Given the description of an element on the screen output the (x, y) to click on. 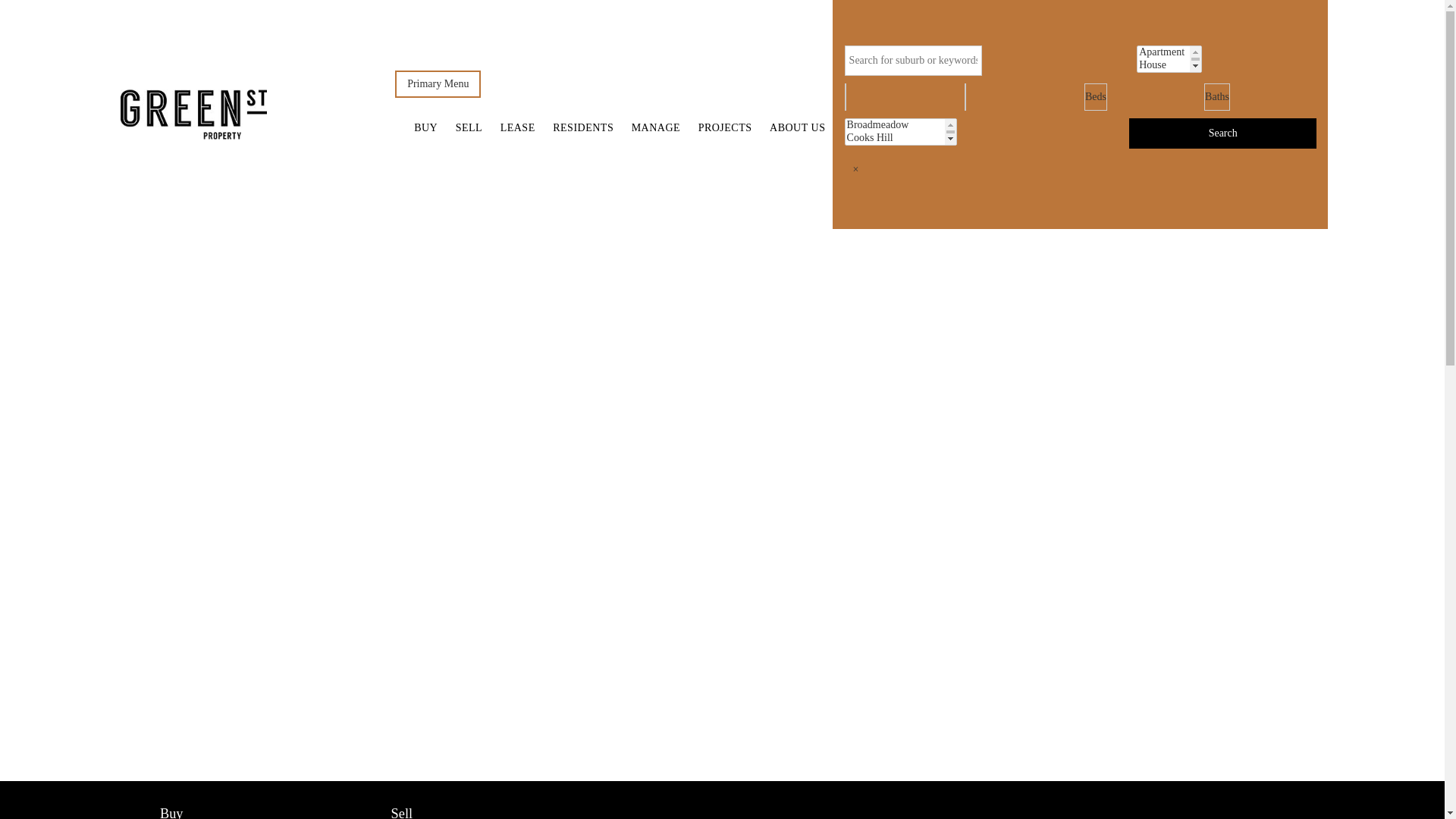
SELL Element type: text (468, 127)
Primary Menu Element type: text (437, 83)
PROJECTS Element type: text (724, 127)
ABOUT US Element type: text (797, 127)
LEASE Element type: text (517, 127)
Search Element type: text (1222, 133)
RESIDENTS Element type: text (583, 127)
BUY Element type: text (425, 127)
MANAGE Element type: text (655, 127)
